Given the description of an element on the screen output the (x, y) to click on. 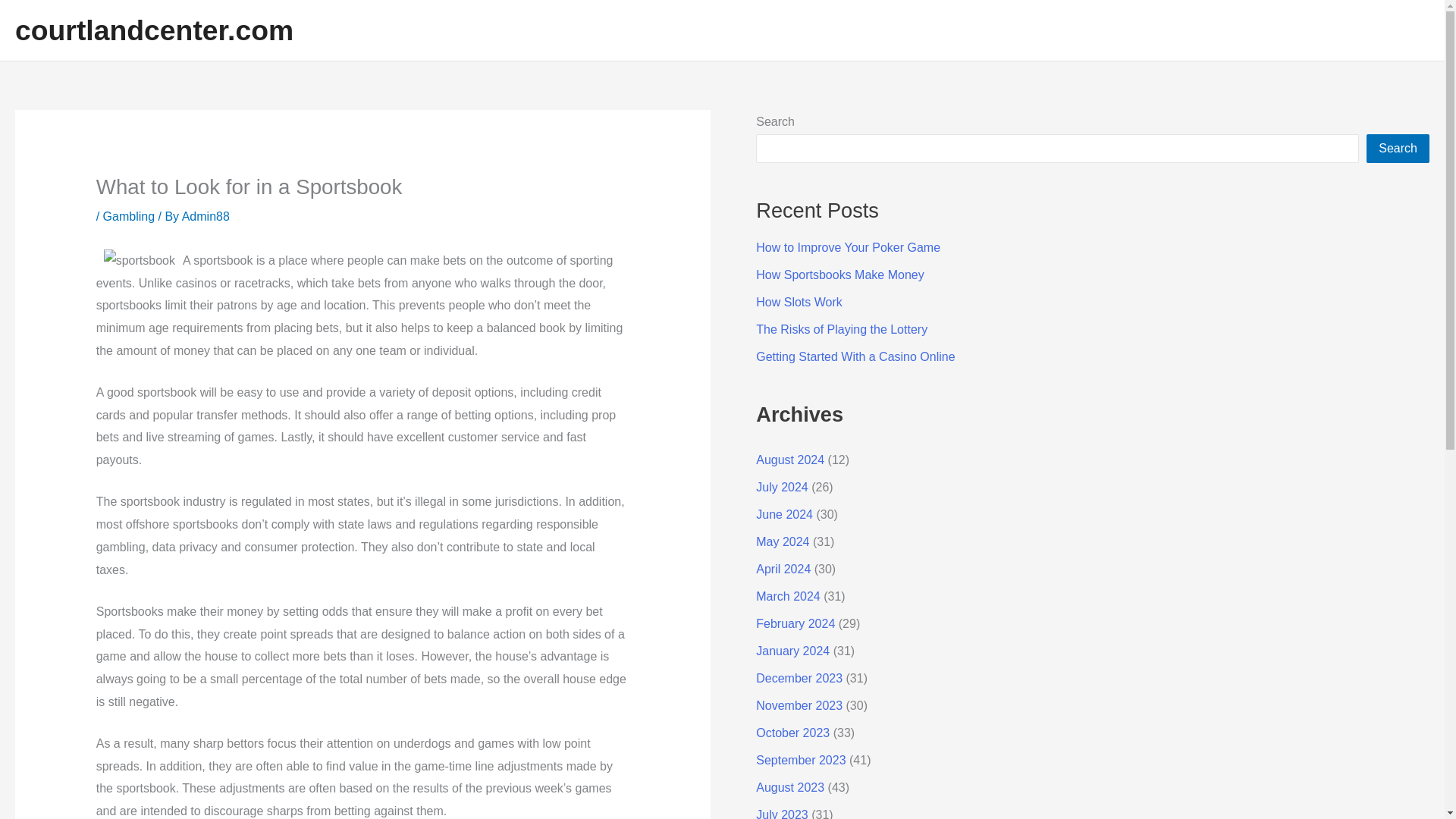
November 2023 (799, 705)
December 2023 (799, 677)
View all posts by Admin88 (206, 215)
How to Improve Your Poker Game (847, 246)
Gambling (128, 215)
July 2023 (781, 813)
August 2024 (789, 459)
Search (1398, 148)
June 2024 (783, 513)
March 2024 (788, 595)
